Given the description of an element on the screen output the (x, y) to click on. 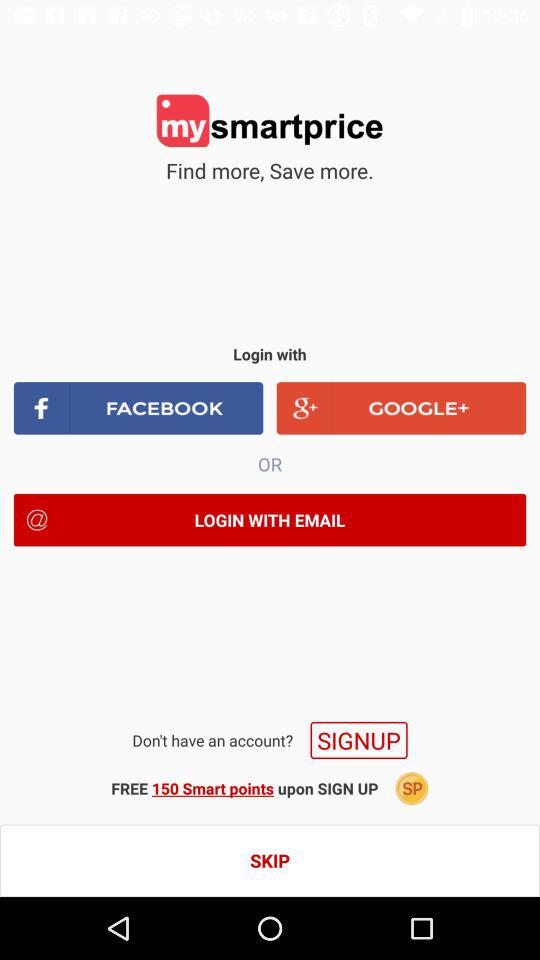
open the free 150 smart icon (244, 788)
